Given the description of an element on the screen output the (x, y) to click on. 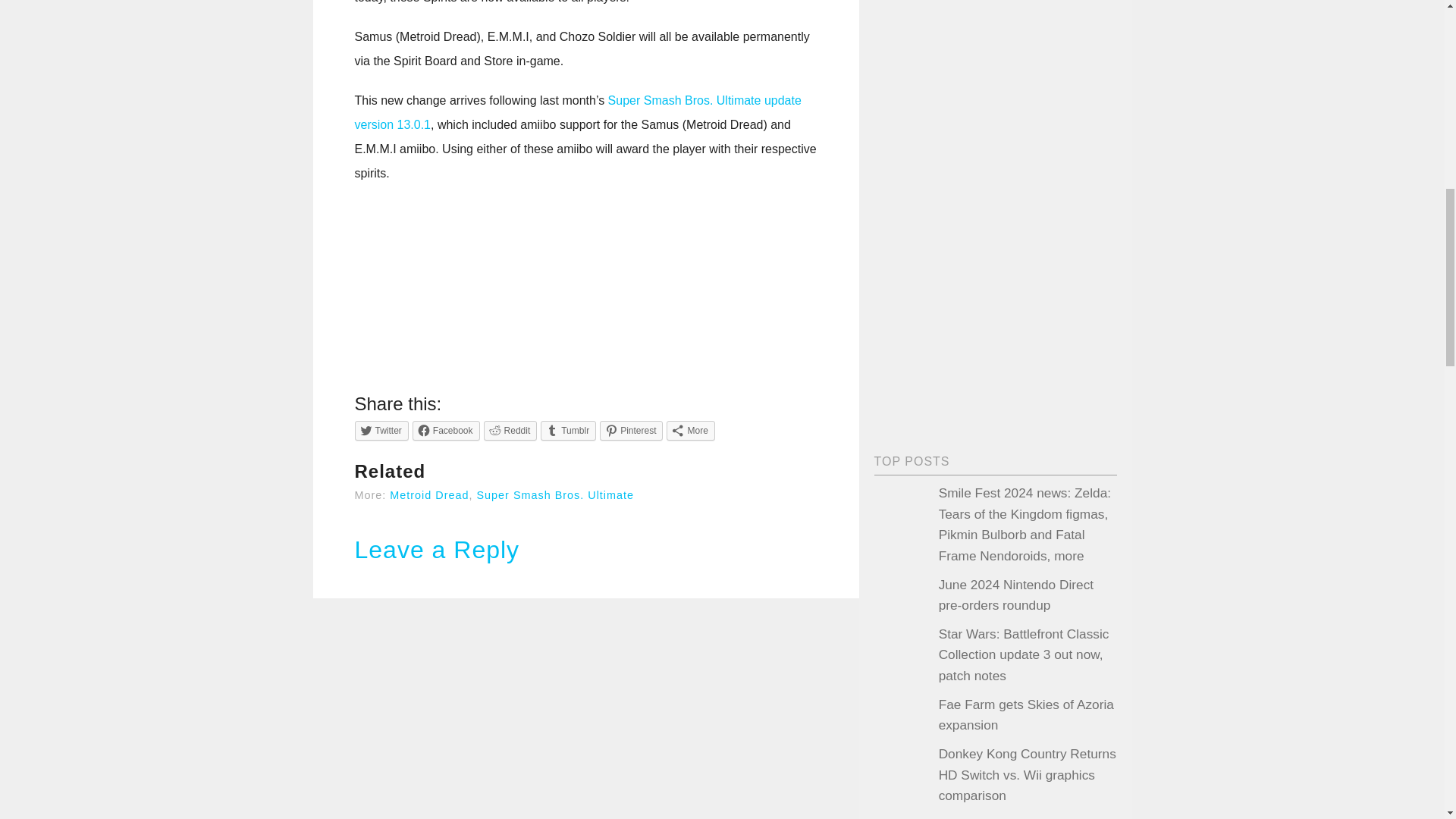
Click to share on Tumblr (567, 430)
Twitter (382, 430)
Super Smash Bros. Ultimate update version 13.0.1 (578, 112)
Facebook (446, 430)
June 2024 Nintendo Direct pre-orders roundup (1016, 595)
Reddit (510, 430)
Pinterest (630, 430)
Click to share on Reddit (510, 430)
Click to share on Twitter (382, 430)
